Given the description of an element on the screen output the (x, y) to click on. 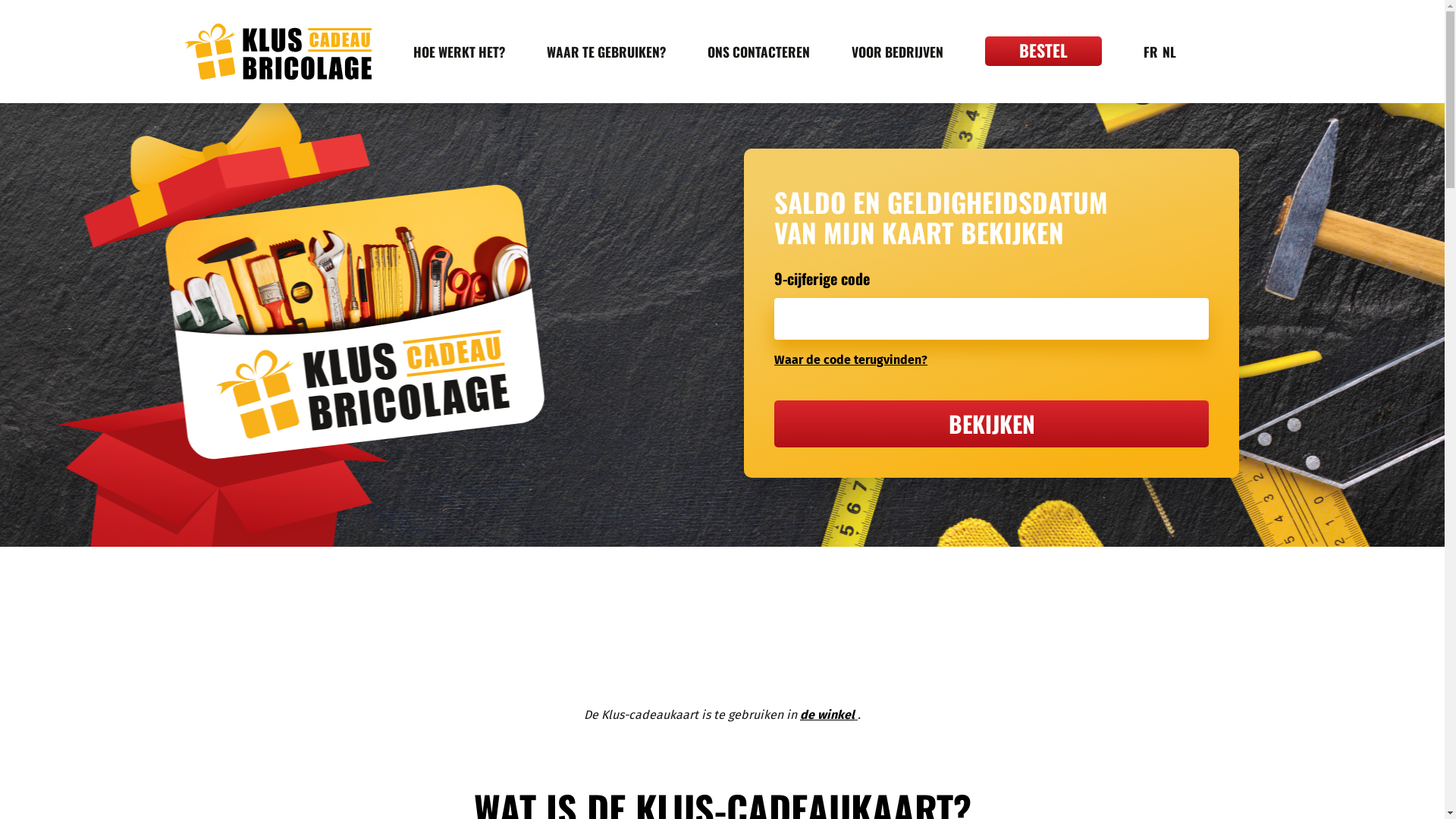
HOE WERKT HET? Element type: text (458, 51)
ONS CONTACTEREN Element type: text (757, 51)
FR Element type: text (1150, 51)
de winkel Element type: text (827, 714)
BESTEL Element type: text (1042, 50)
WAAR TE GEBRUIKEN? Element type: text (605, 51)
BEKIJKEN Element type: text (991, 423)
VOOR BEDRIJVEN Element type: text (896, 51)
NL Element type: text (1168, 51)
